Given the description of an element on the screen output the (x, y) to click on. 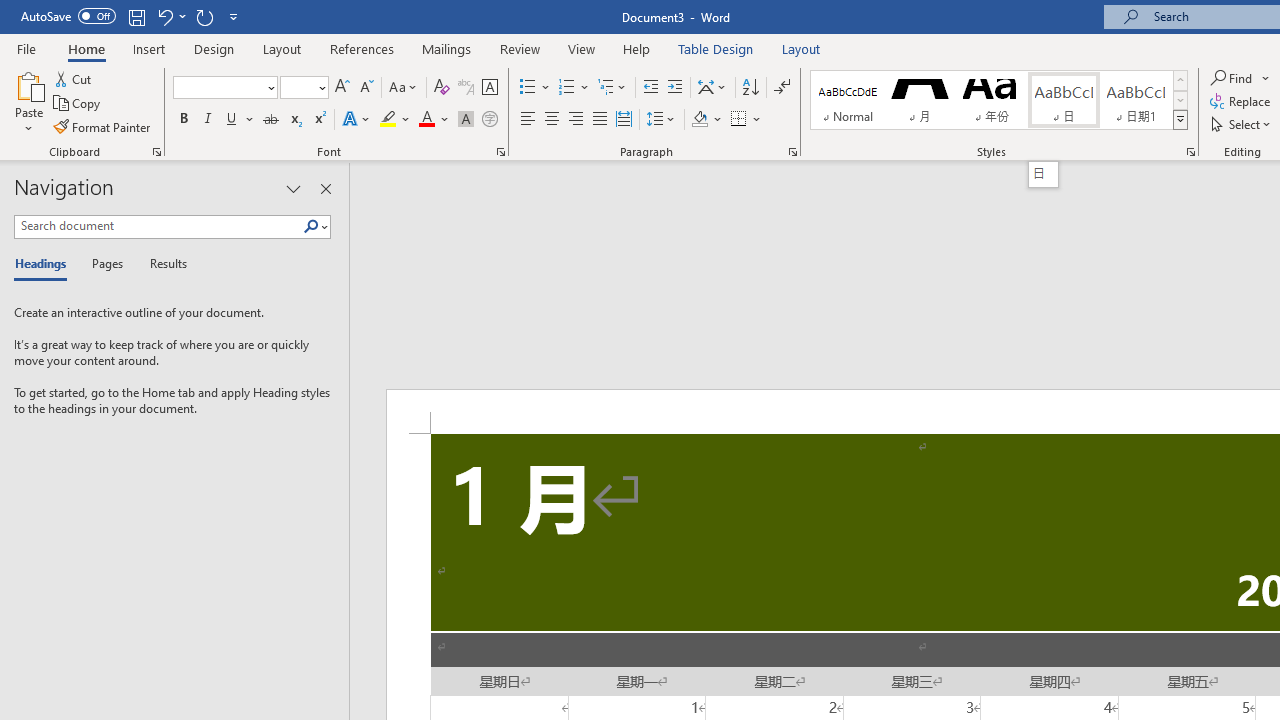
Format Painter (103, 126)
Numbering (573, 87)
Search document (157, 226)
Cut (73, 78)
Open (320, 87)
Results (161, 264)
Font Color (434, 119)
Find (1240, 78)
Borders (746, 119)
Clear Formatting (442, 87)
AutomationID: QuickStylesGallery (999, 99)
Search (311, 227)
